Given the description of an element on the screen output the (x, y) to click on. 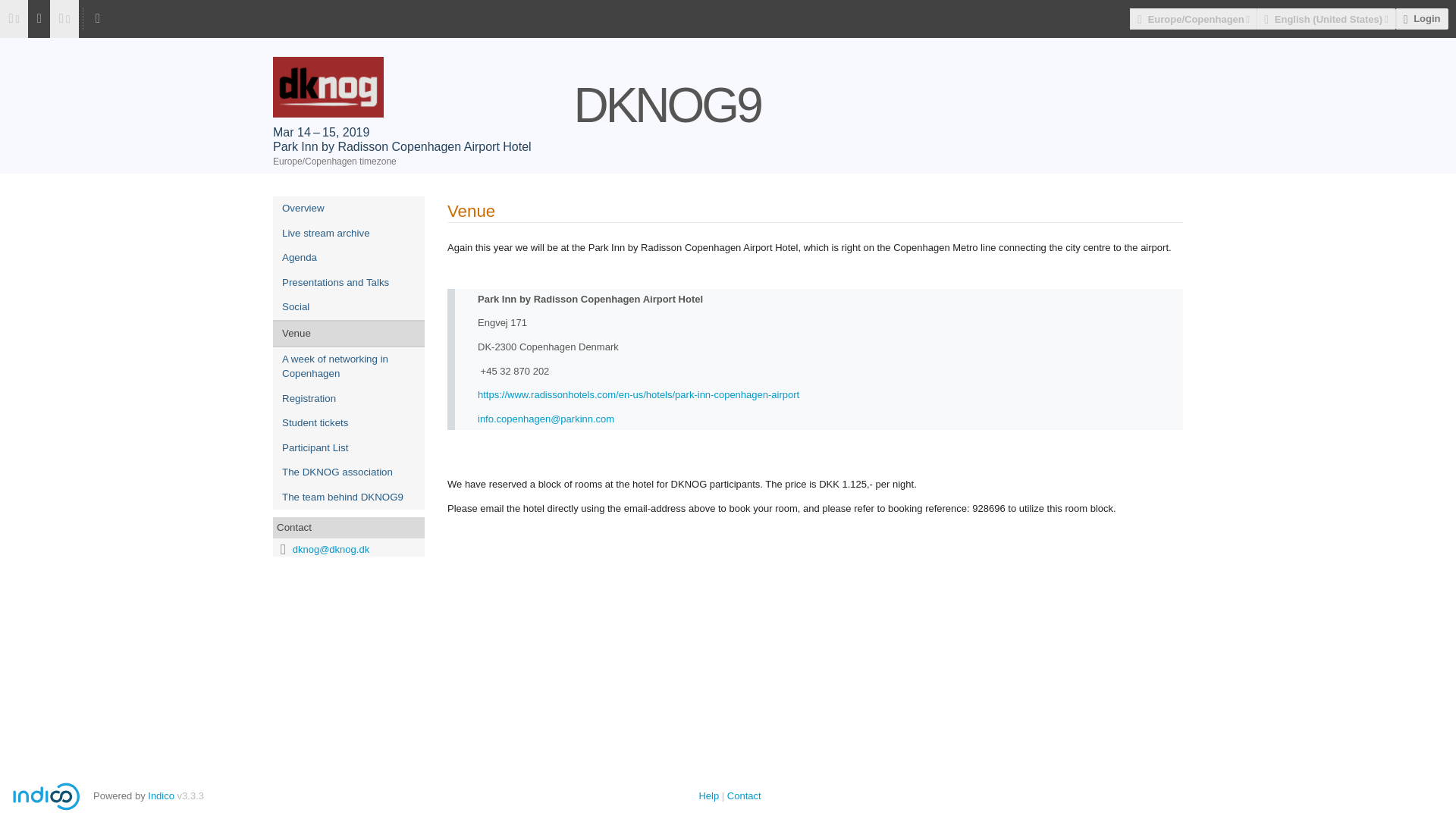
Student tickets (349, 423)
Venue (349, 334)
DKNOG9 (727, 71)
Participant List (349, 448)
Overview (349, 208)
Social (349, 307)
Agenda (349, 258)
The DKNOG association (349, 472)
Registration (349, 398)
Presentations and Talks (349, 283)
